Given the description of an element on the screen output the (x, y) to click on. 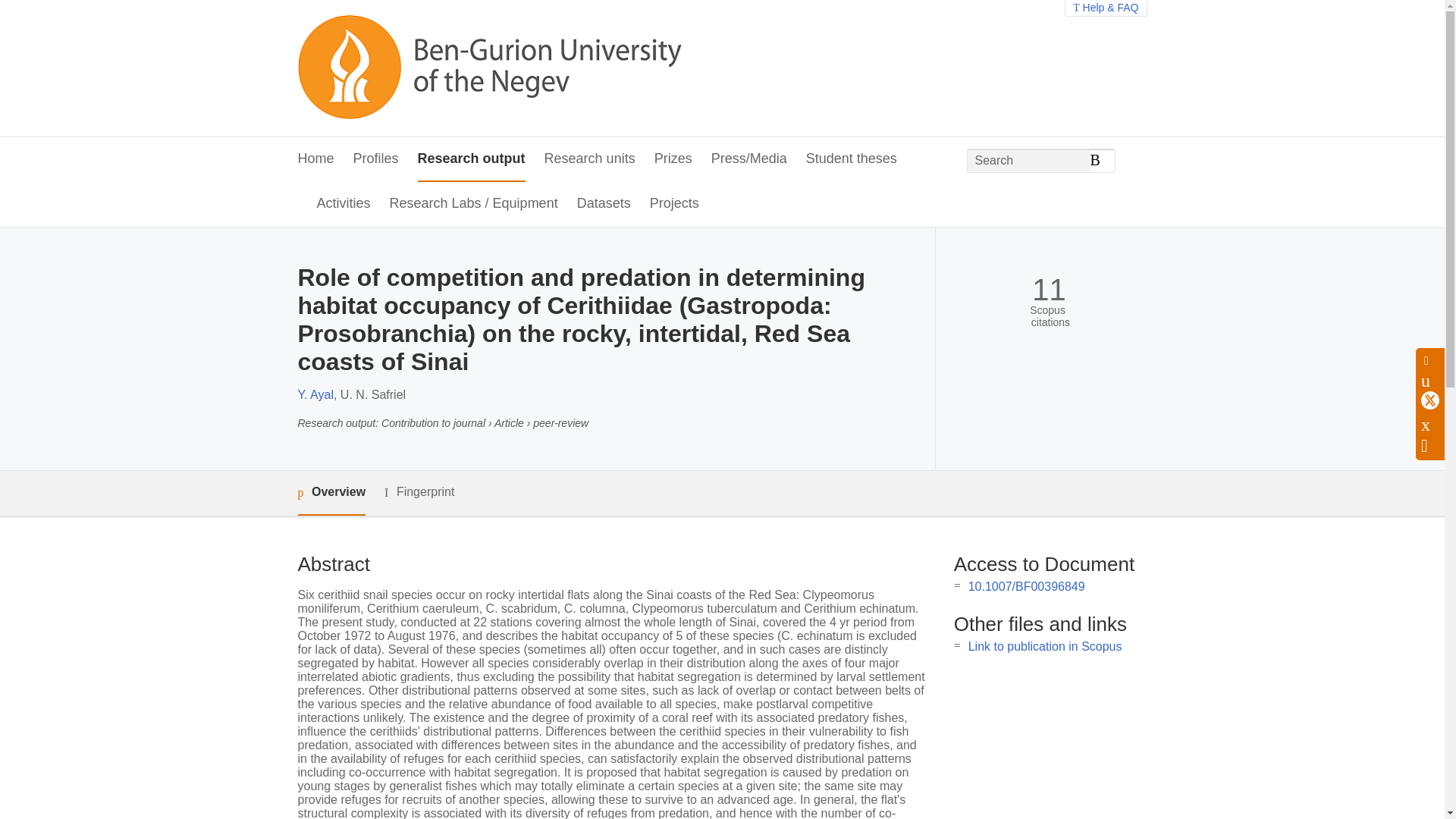
Profiles (375, 159)
Fingerprint (419, 492)
Research units (589, 159)
Student theses (851, 159)
Overview (331, 492)
Ben-Gurion University Research Portal Home (489, 68)
Datasets (603, 203)
Y. Ayal (315, 394)
Activities (344, 203)
